Given the description of an element on the screen output the (x, y) to click on. 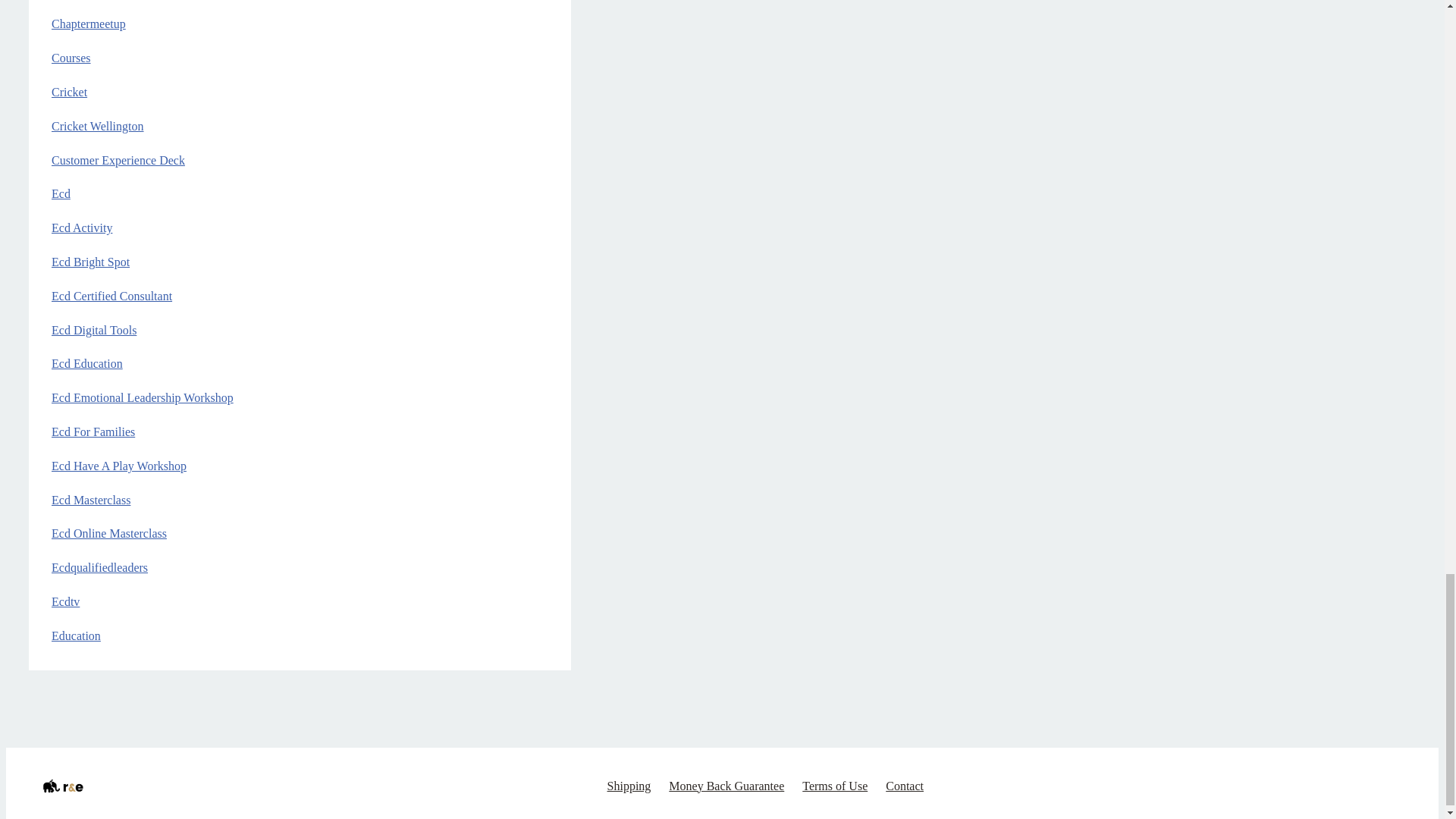
Cricket Wellington (97, 125)
Courses (70, 57)
Chaptermeetup (87, 23)
Cricket (68, 91)
